Given the description of an element on the screen output the (x, y) to click on. 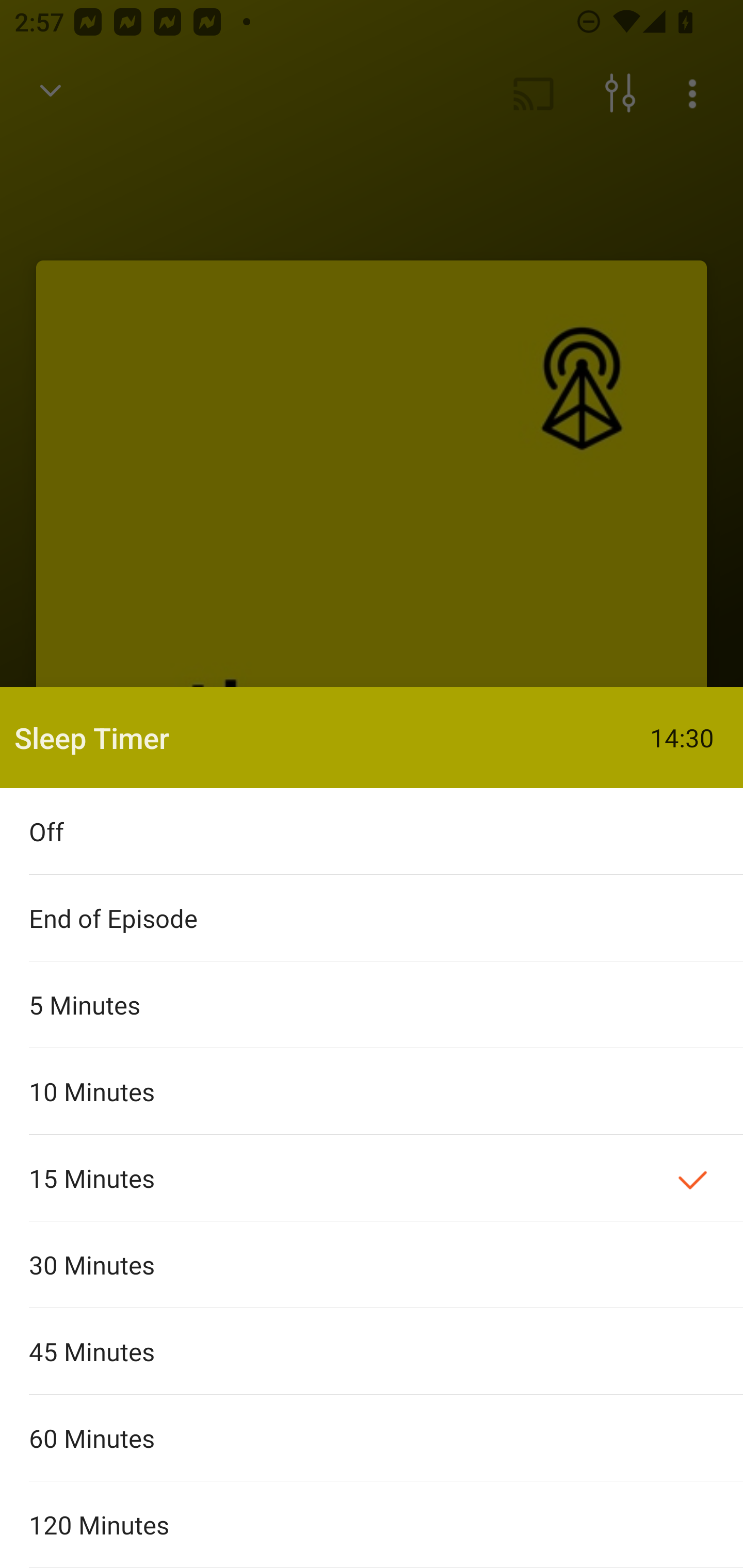
Off (371, 831)
End of Episode (371, 917)
5 Minutes (371, 1004)
10 Minutes (371, 1091)
15 Minutes (371, 1178)
30 Minutes (371, 1264)
45 Minutes (371, 1350)
60 Minutes (371, 1437)
120 Minutes (371, 1524)
